Given the description of an element on the screen output the (x, y) to click on. 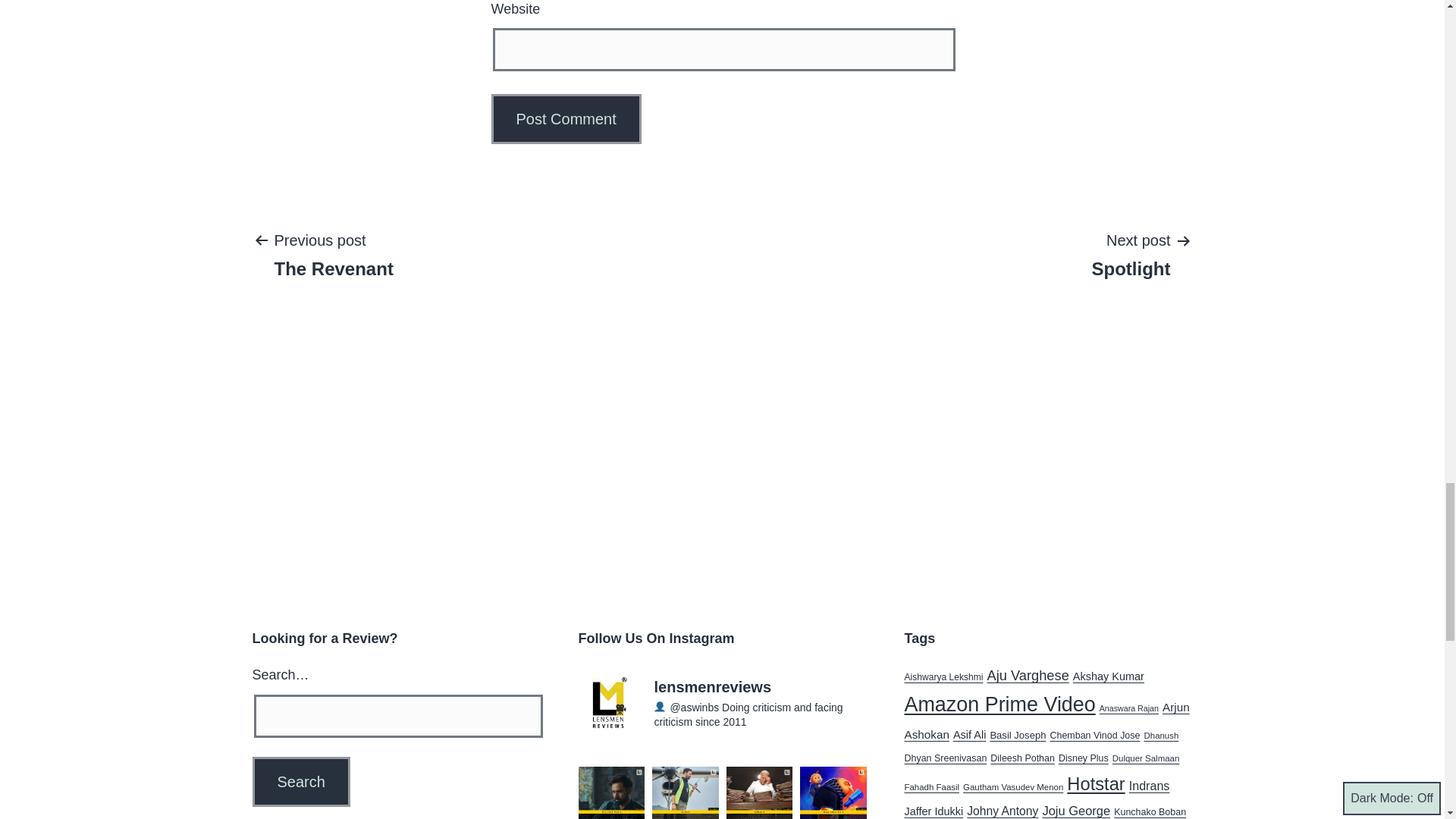
Post Comment (567, 119)
Search (300, 781)
Search (300, 781)
Search (300, 781)
Post Comment (1131, 253)
